Given the description of an element on the screen output the (x, y) to click on. 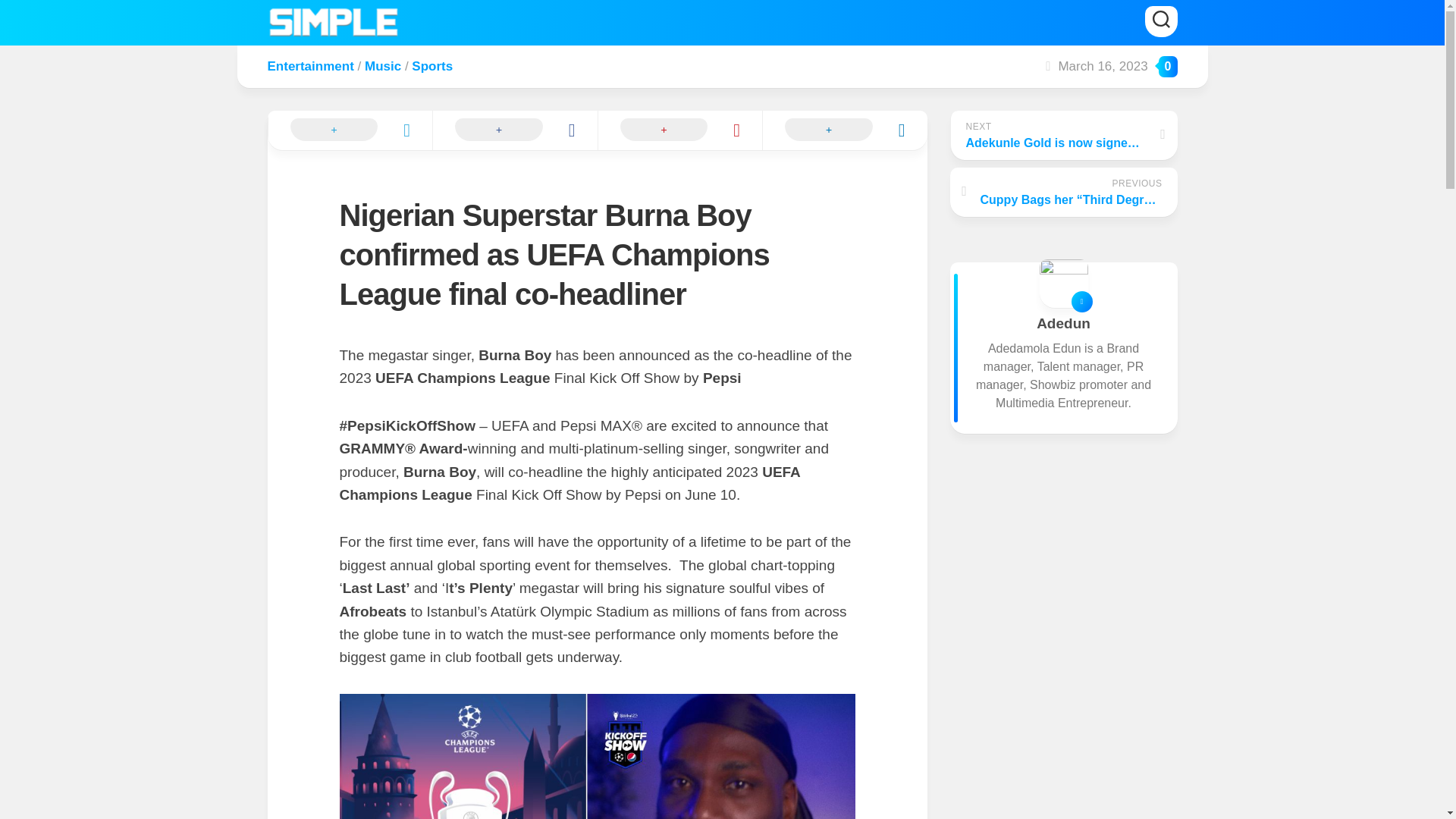
Music (383, 65)
Share on LinkedIn (844, 129)
Entertainment (309, 65)
Share on Pinterest (679, 129)
Share on X (349, 129)
Share on Facebook (1062, 134)
0 (514, 129)
Sports (1167, 66)
